Given the description of an element on the screen output the (x, y) to click on. 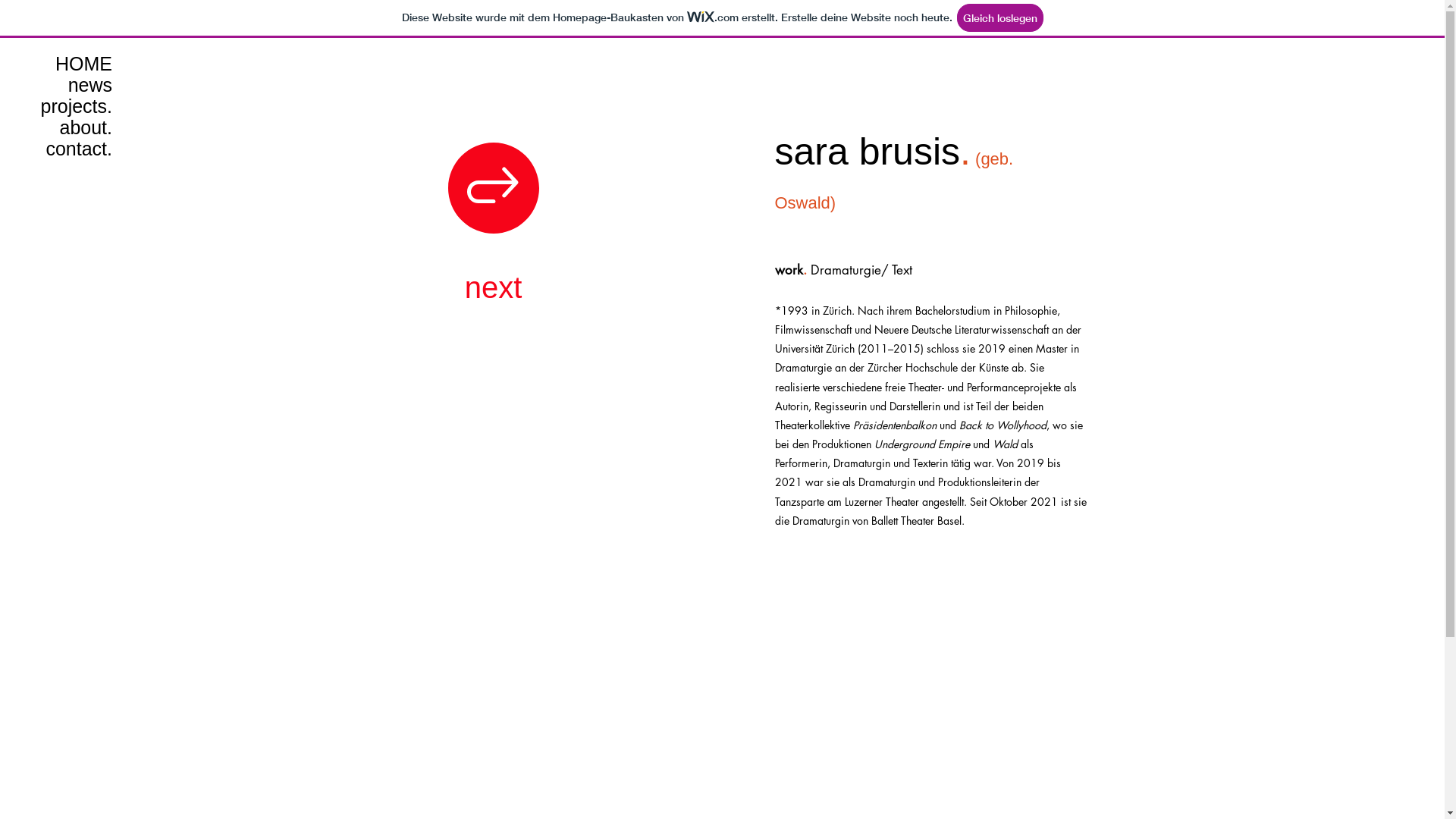
projects. Element type: text (63, 105)
HOME Element type: text (63, 63)
news Element type: text (63, 84)
contact. Element type: text (63, 148)
about. Element type: text (63, 127)
